Given the description of an element on the screen output the (x, y) to click on. 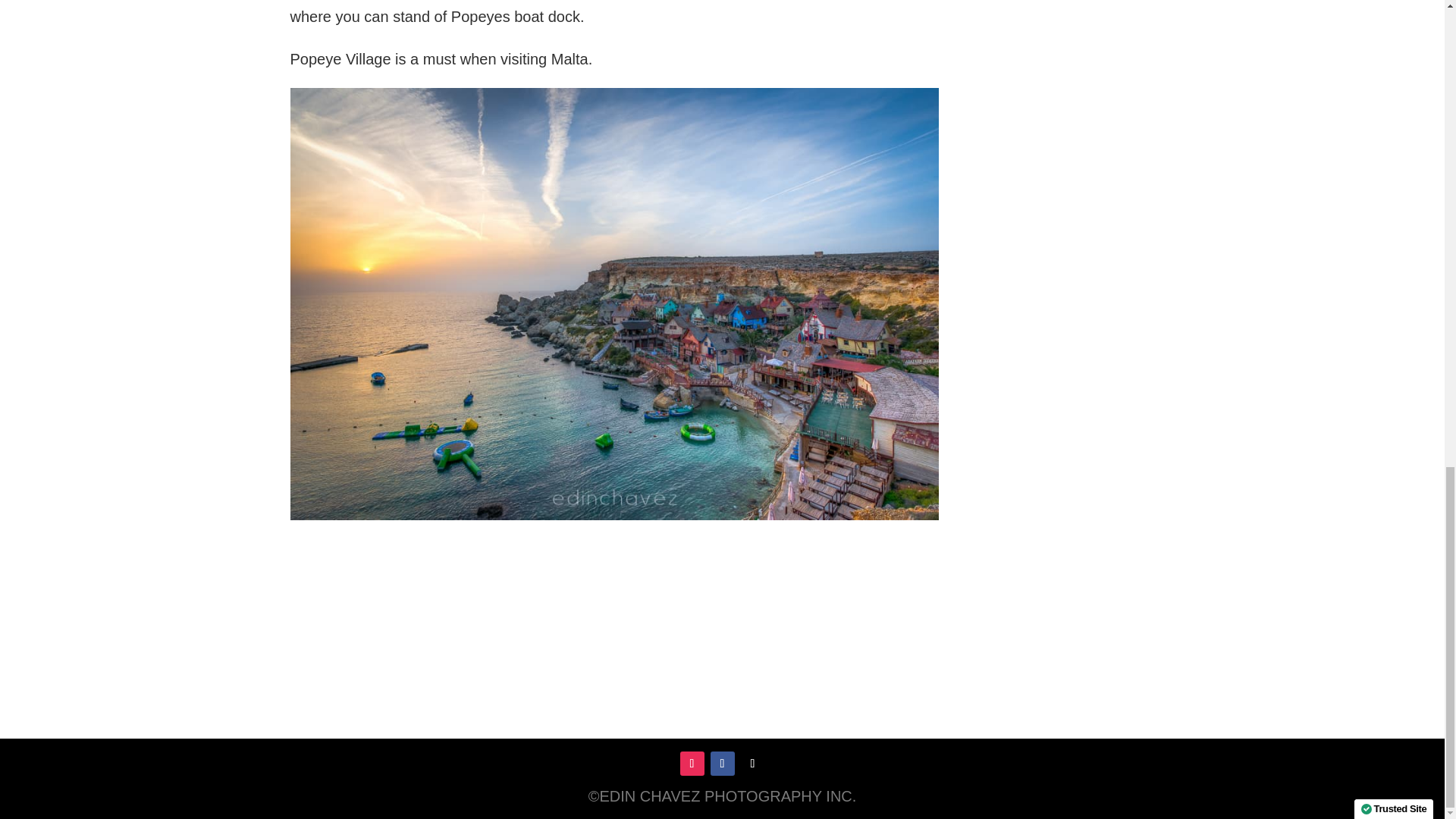
Follow on Instagram (691, 763)
Follow on Facebook (721, 763)
Follow on X (751, 763)
